Given the description of an element on the screen output the (x, y) to click on. 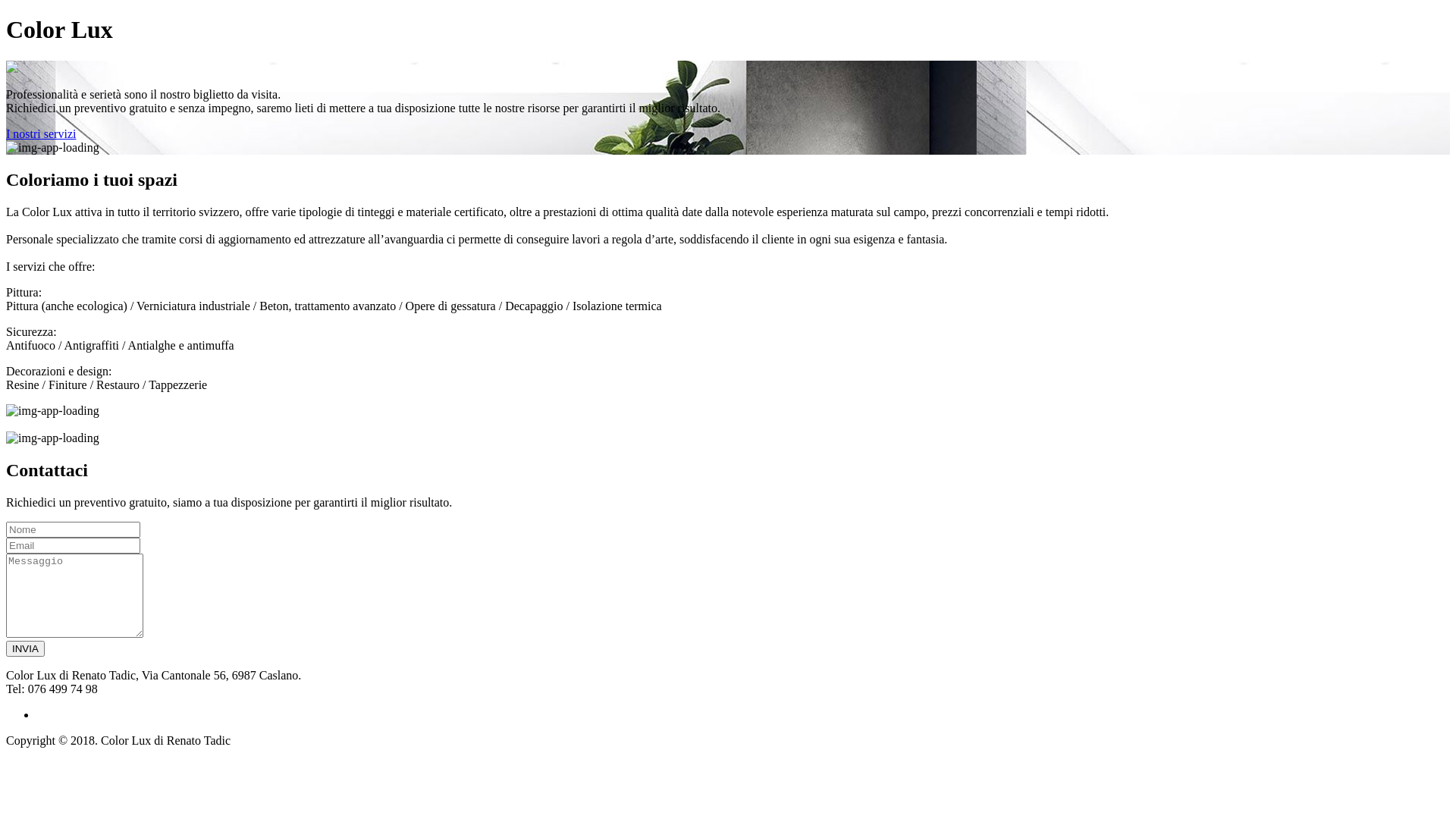
INVIA Element type: text (25, 647)
I nostri servizi Element type: text (40, 133)
